Given the description of an element on the screen output the (x, y) to click on. 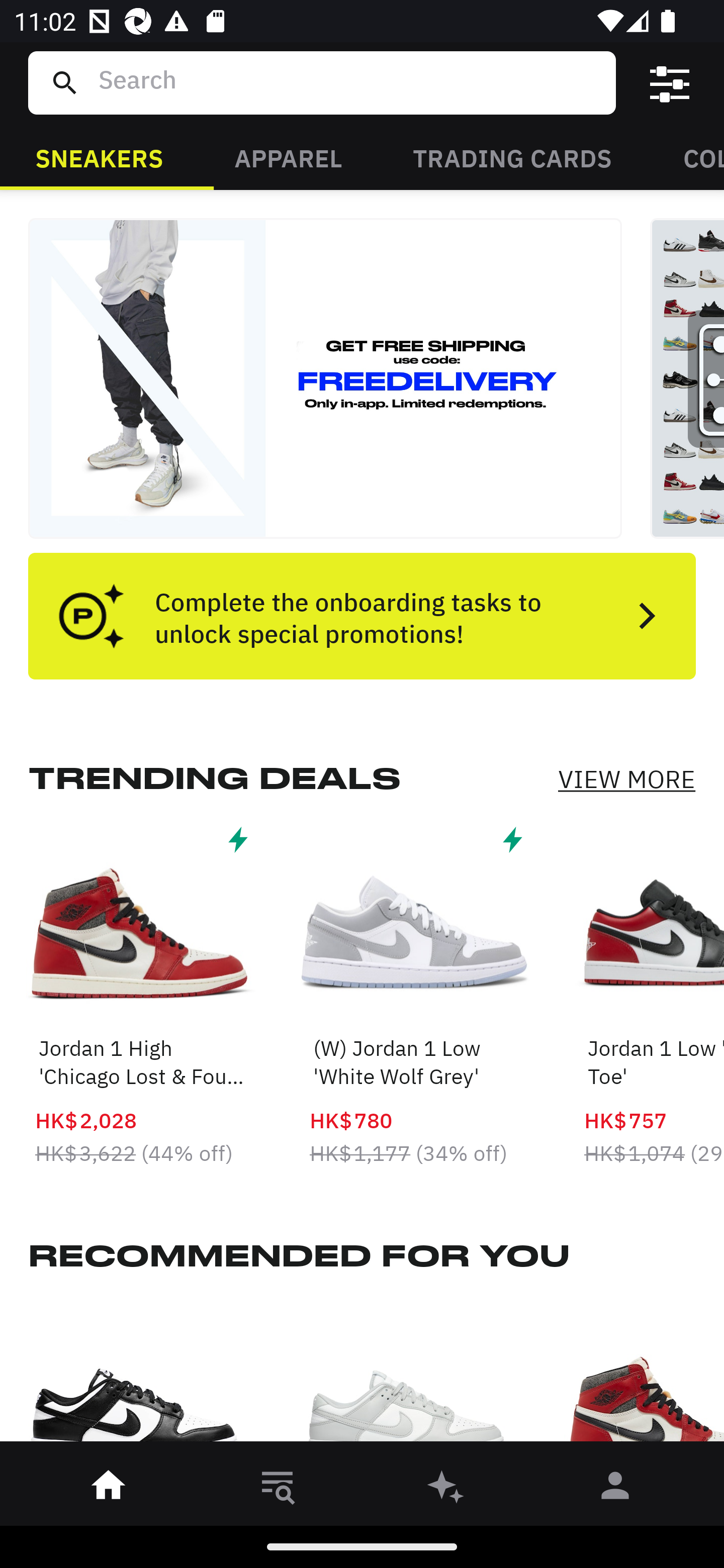
Search (349, 82)
 (669, 82)
SNEAKERS (99, 156)
APPAREL (287, 156)
TRADING CARDS (512, 156)
VIEW MORE (626, 779)
󰋜 (108, 1488)
󱎸 (277, 1488)
󰫢 (446, 1488)
󰀄 (615, 1488)
